Given the description of an element on the screen output the (x, y) to click on. 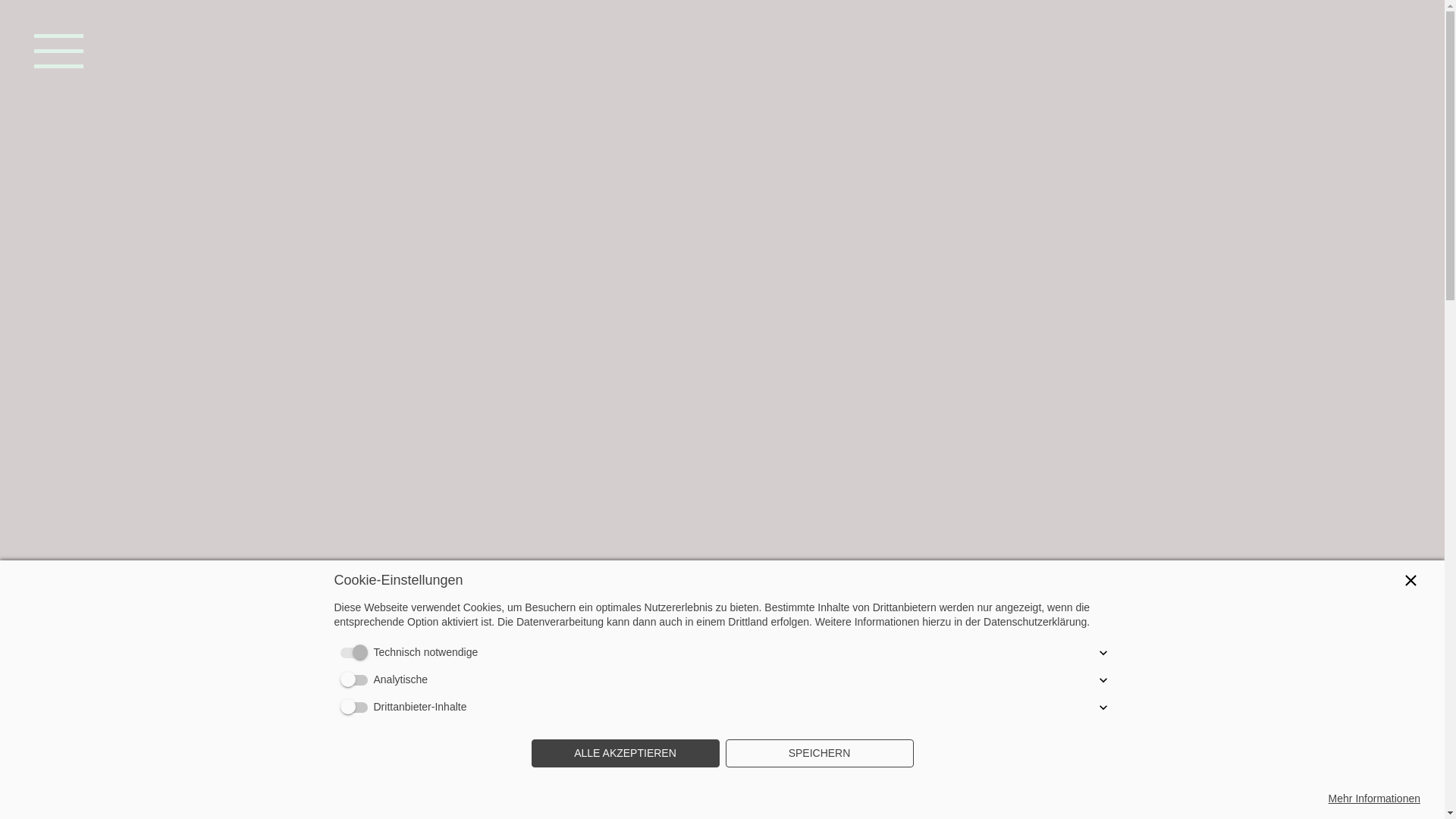
ALLE AKZEPTIEREN Element type: text (624, 753)
SPEICHERN Element type: text (818, 753)
Mehr Informationen Element type: text (1374, 798)
